Given the description of an element on the screen output the (x, y) to click on. 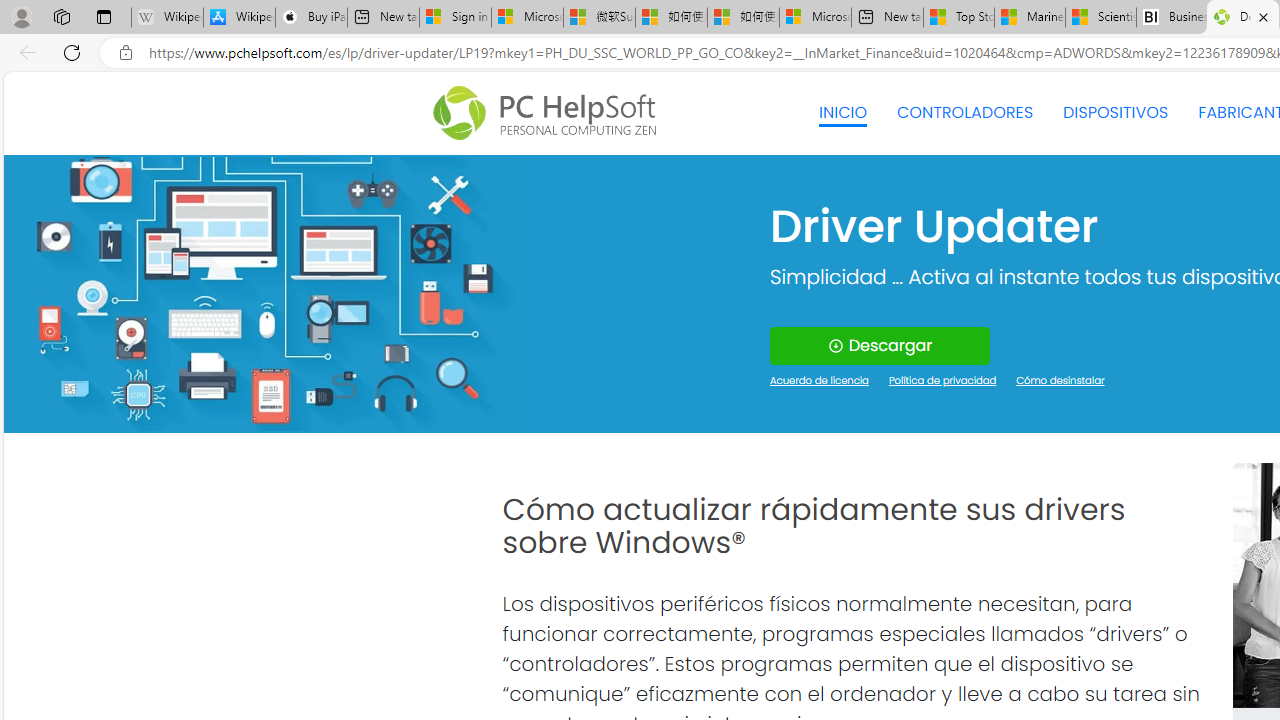
Acuerdo de licencia (819, 381)
